Given the description of an element on the screen output the (x, y) to click on. 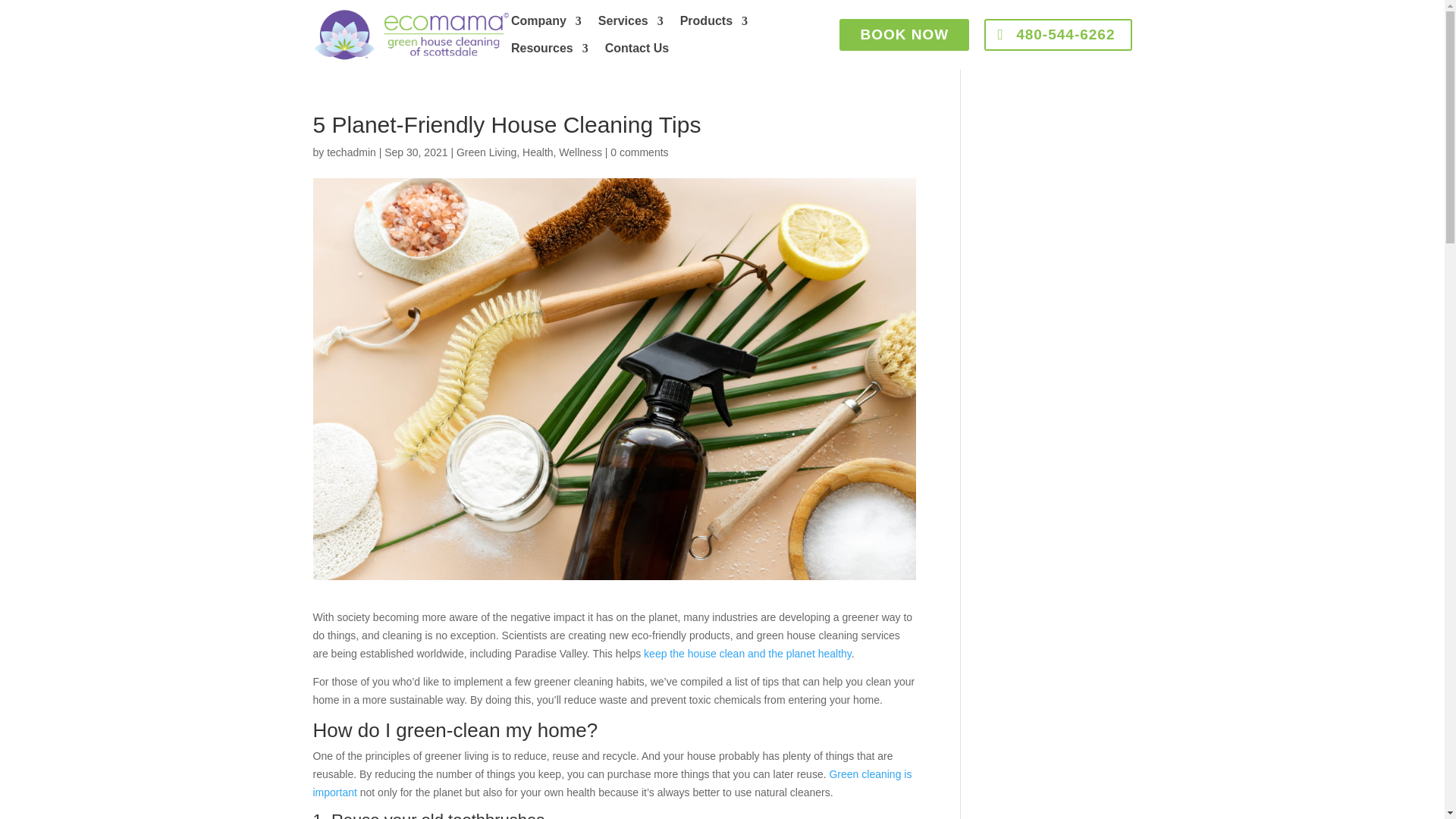
Services (630, 24)
Posts by techadmin (350, 152)
Company (545, 24)
Contact Us (636, 51)
Products (713, 24)
480-544-6262 (1057, 34)
Eco-Mama-Green-House-Cleaning-new-logo (412, 35)
Wellness (580, 152)
Health (537, 152)
Green Living (486, 152)
Resources (549, 51)
techadmin (350, 152)
BOOK NOW (904, 34)
